Given the description of an element on the screen output the (x, y) to click on. 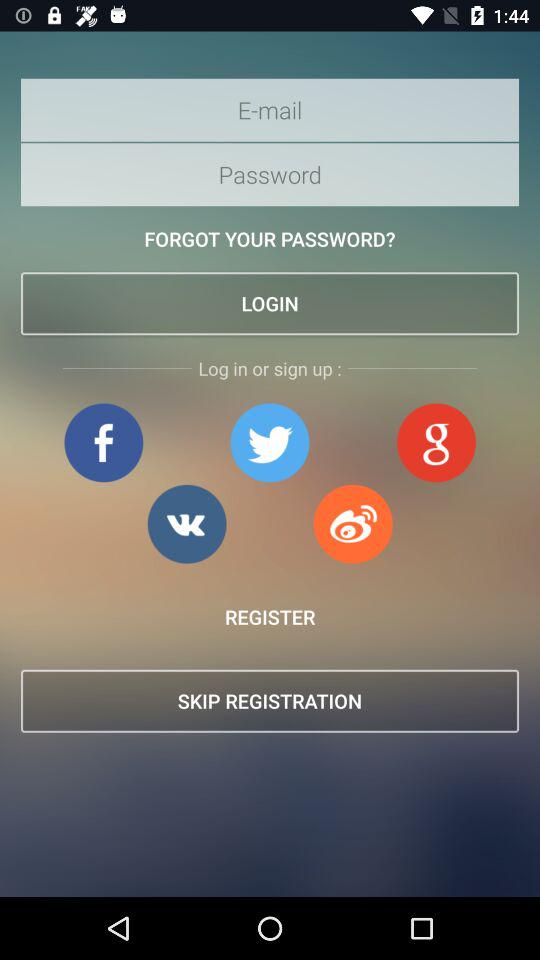
log in via facebook (103, 442)
